Given the description of an element on the screen output the (x, y) to click on. 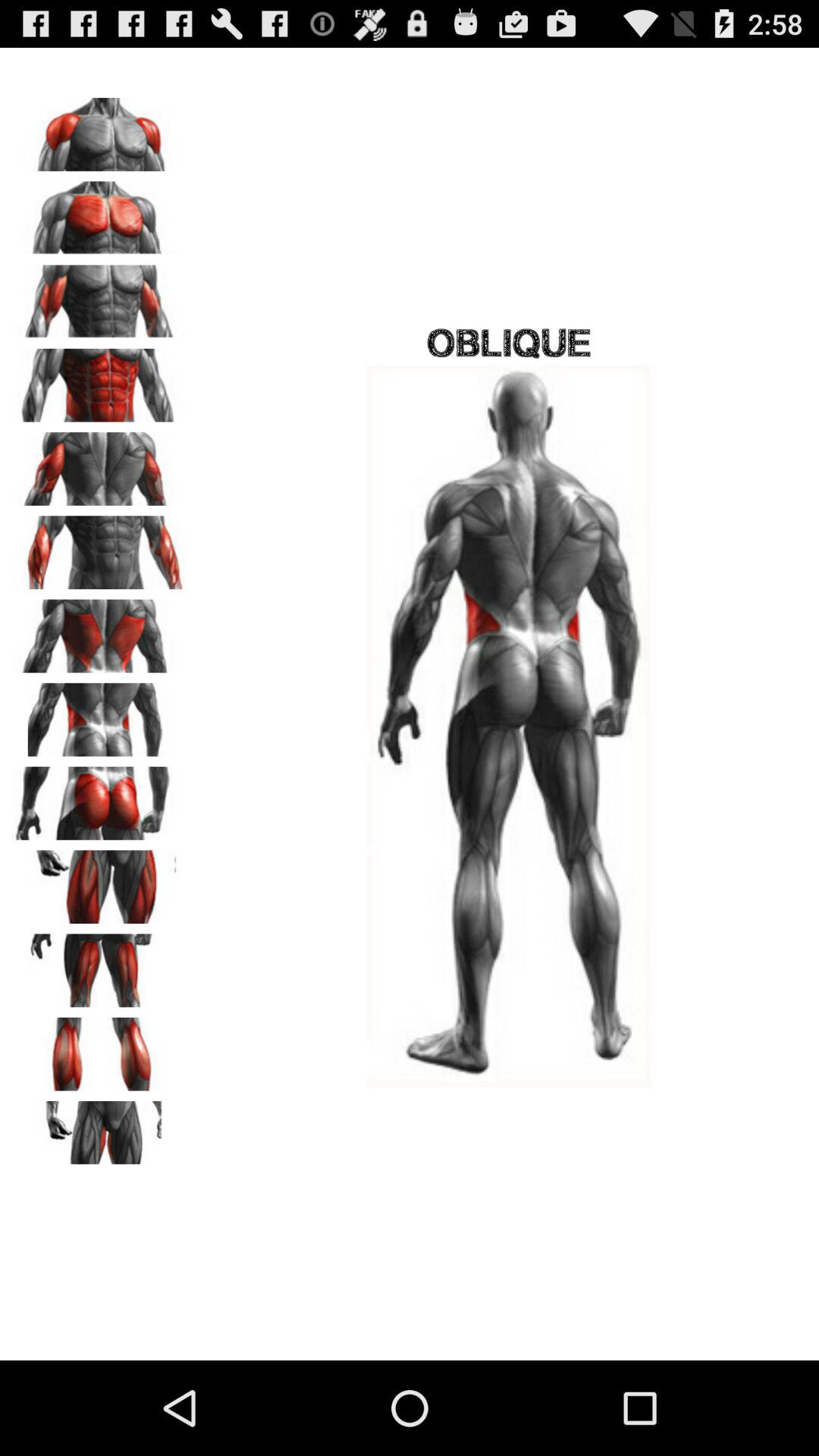
change app 's view (99, 630)
